Given the description of an element on the screen output the (x, y) to click on. 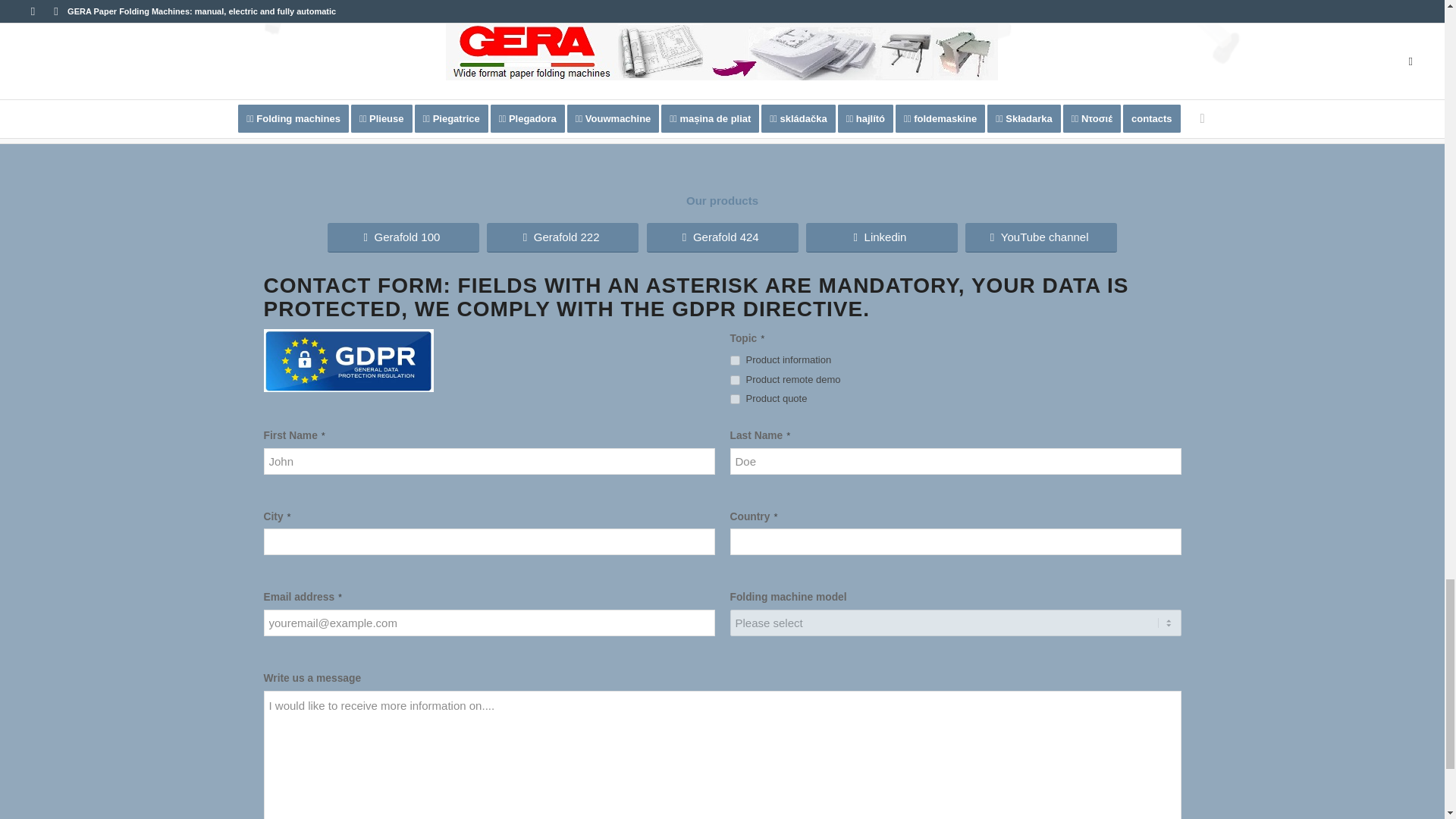
Product remote demo (734, 379)
Product quote (734, 398)
Product information (734, 360)
